Given the description of an element on the screen output the (x, y) to click on. 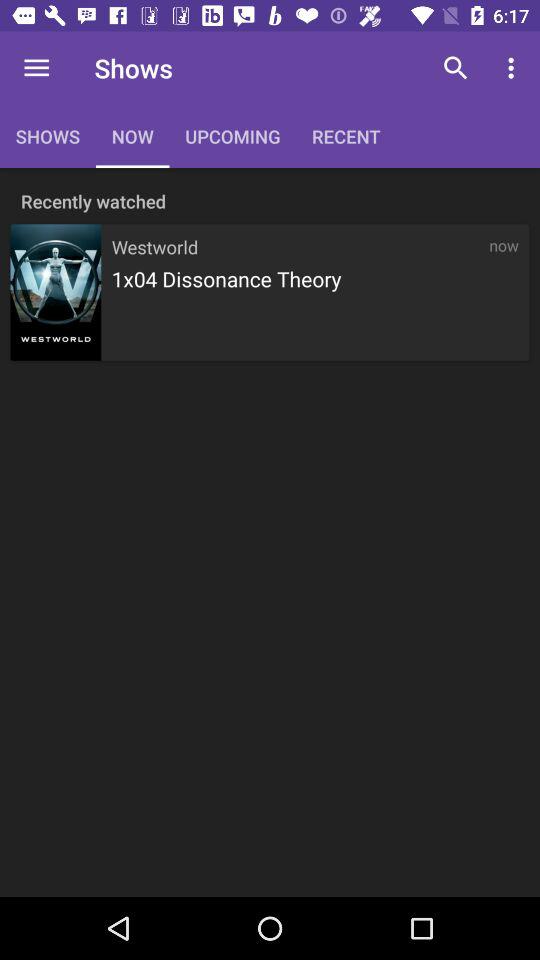
turn on icon to the right of recent icon (455, 67)
